Given the description of an element on the screen output the (x, y) to click on. 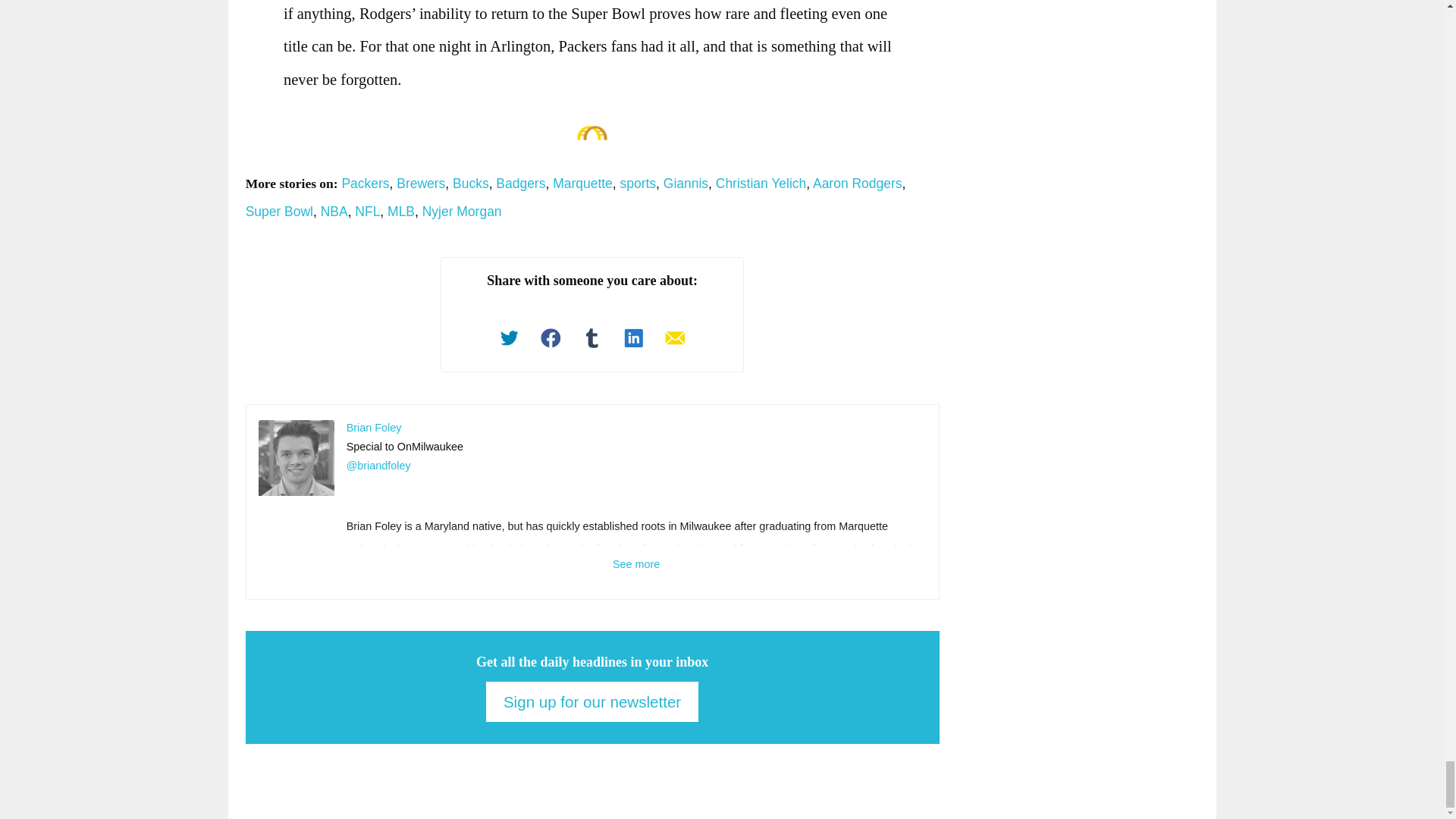
Badgers (520, 183)
NFL (367, 211)
Brian Foley (296, 458)
Super Bowl (279, 211)
Christian Yelich (761, 183)
Packers (364, 183)
More articles by Brian Foley (373, 427)
